Given the description of an element on the screen output the (x, y) to click on. 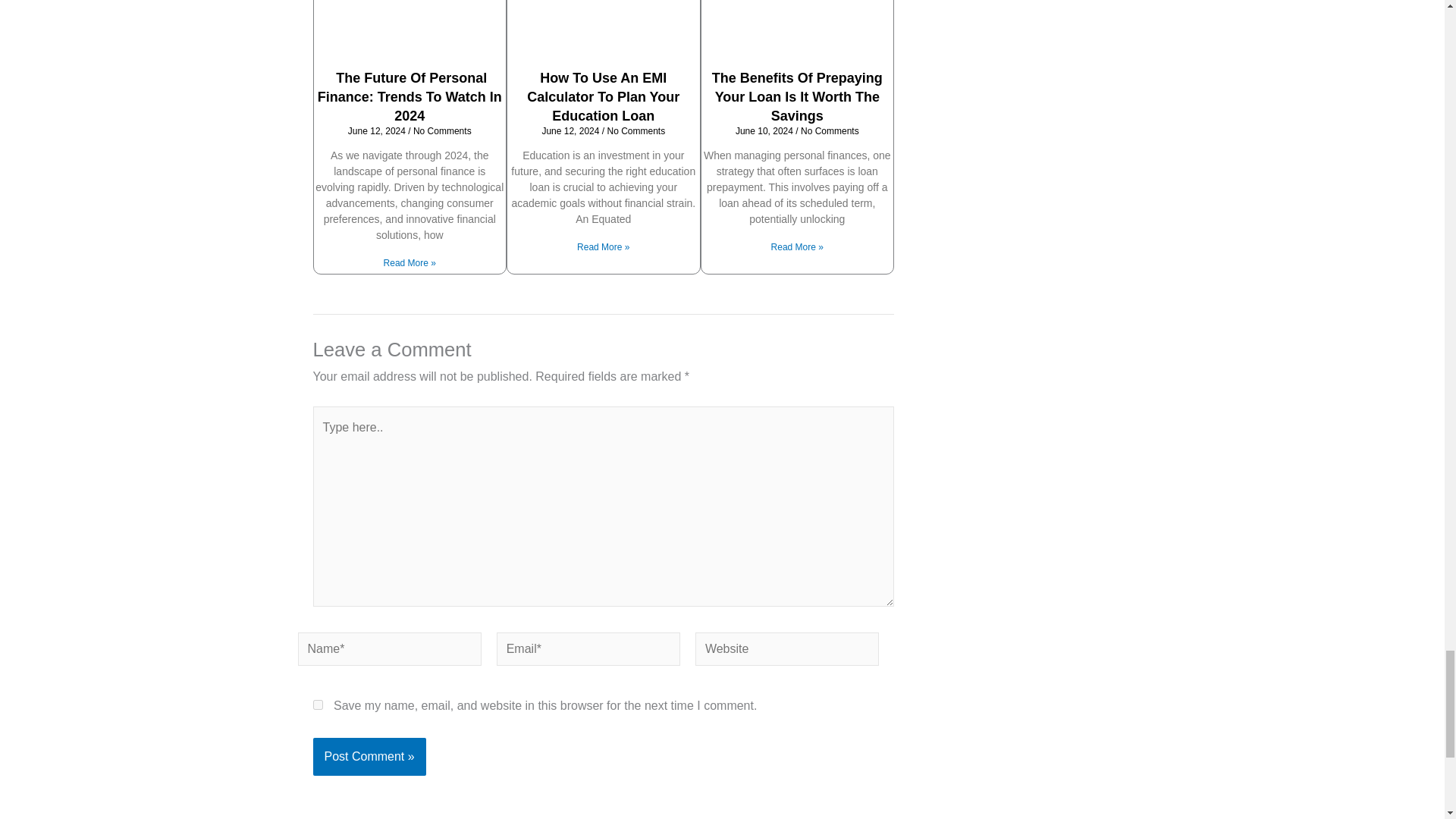
yes (317, 705)
